Given the description of an element on the screen output the (x, y) to click on. 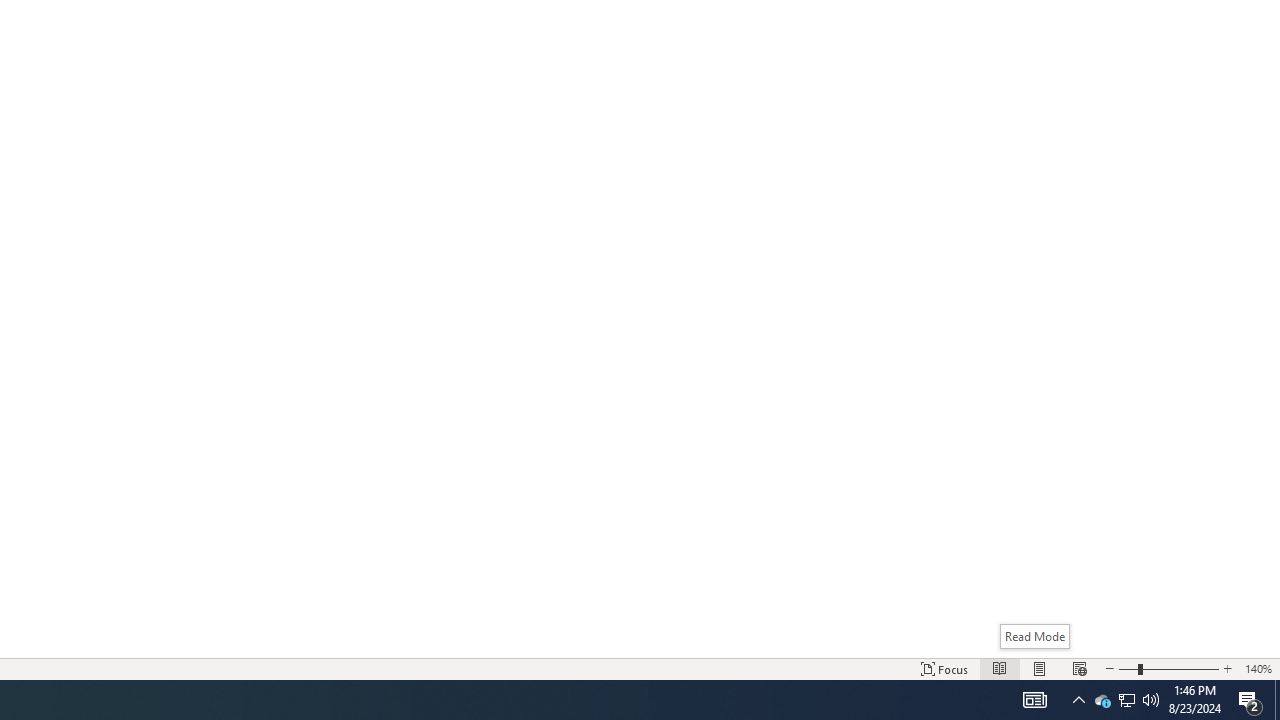
Decrease Text Size (1109, 668)
Text Size (1168, 668)
Increase Text Size (1227, 668)
